Given the description of an element on the screen output the (x, y) to click on. 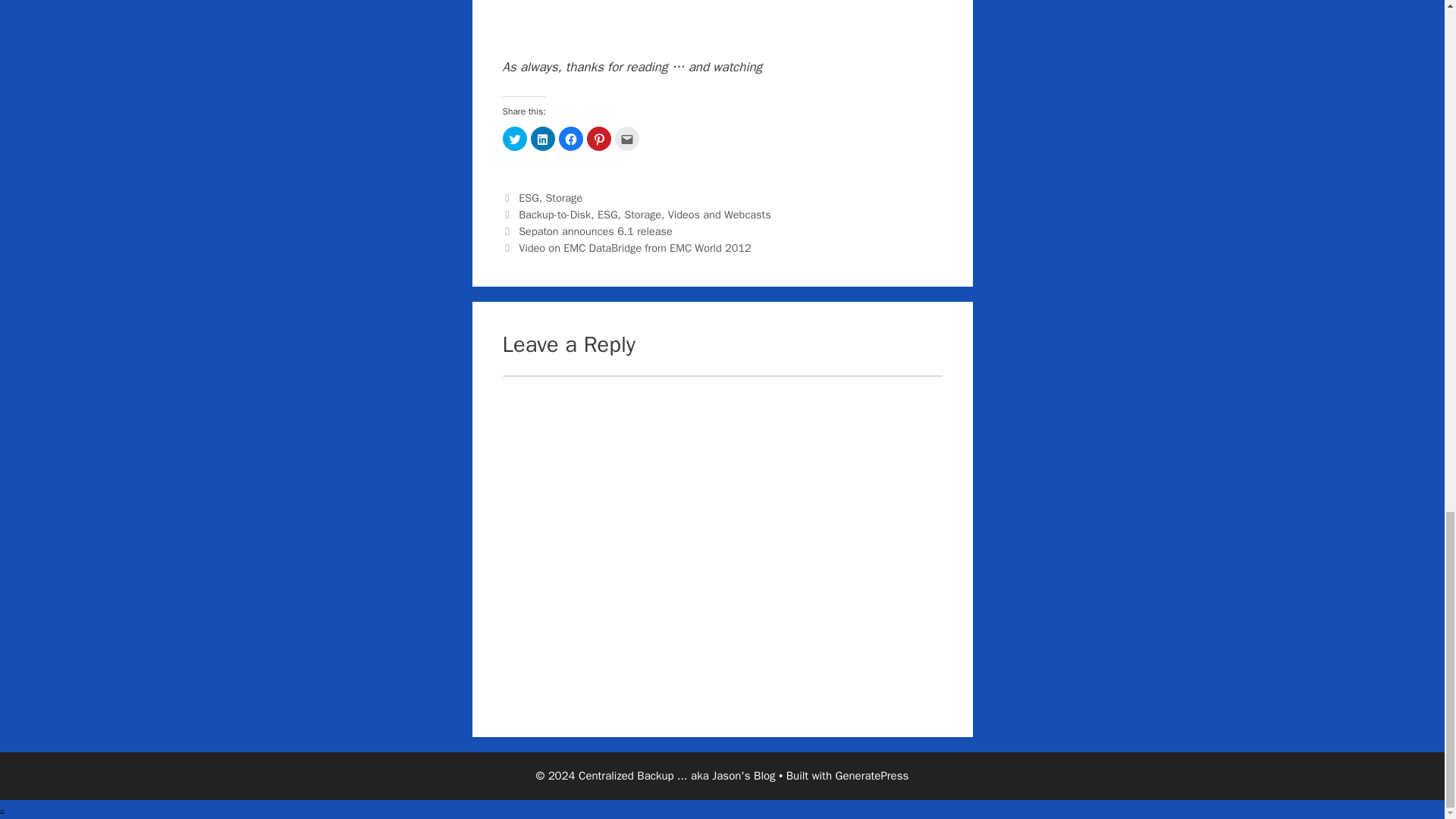
Click to share on Facebook (569, 138)
Click to share on Twitter (513, 138)
Backup-to-Disk (554, 214)
Videos and Webcasts (719, 214)
ESG (528, 197)
Click to email this to a friend (626, 138)
ESG (606, 214)
Sepaton announces 6.1 release (595, 231)
Previous (586, 231)
